Given the description of an element on the screen output the (x, y) to click on. 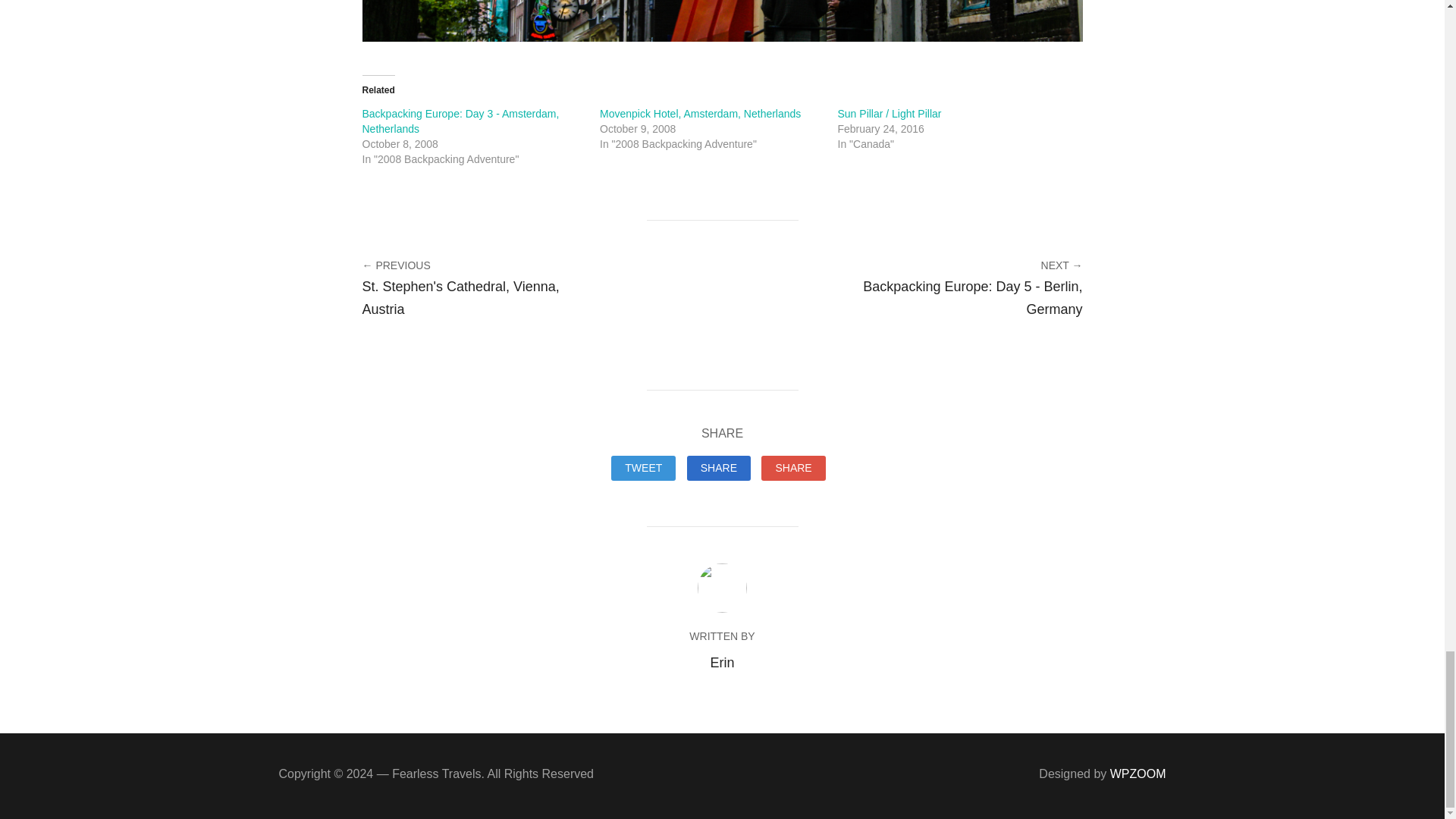
Tweet this on Twitter (643, 468)
Backpacking Europe: Day 5 - Berlin, Germany (969, 298)
Share this on Facebook (719, 468)
St. Stephen's Cathedral, Vienna, Austria (475, 298)
